Given the description of an element on the screen output the (x, y) to click on. 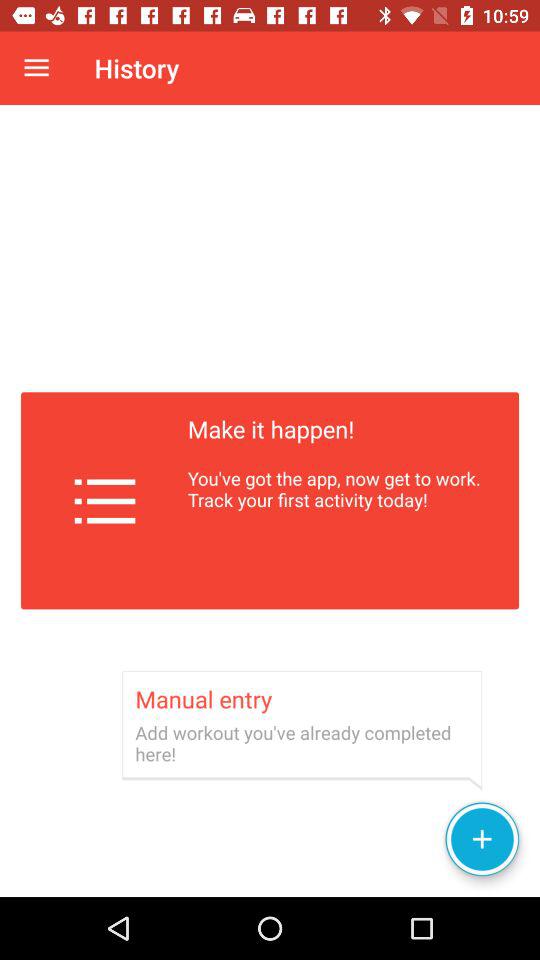
a page showing details about what you click (270, 501)
